Given the description of an element on the screen output the (x, y) to click on. 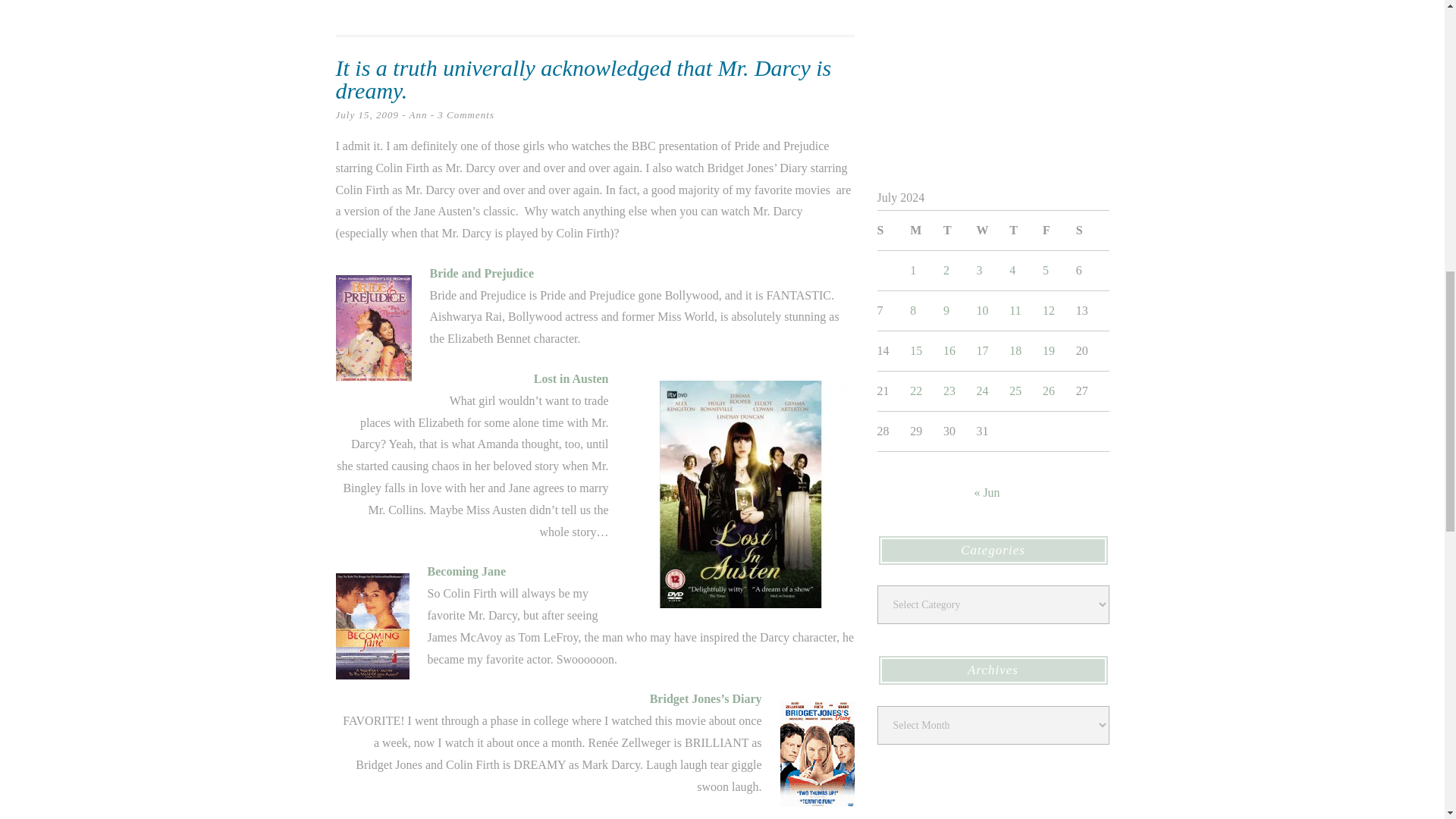
Bride and Prejudice (480, 273)
Sunday (893, 230)
Lost in Austen (571, 378)
Thursday (1025, 230)
Ann (418, 114)
Friday (1058, 230)
The 2020 Online Reading Challenge is Here! (992, 77)
Becoming Jane (467, 571)
Tuesday (959, 230)
July 15, 2009 (365, 114)
Wednesday (993, 230)
3 Comments (466, 114)
Monday (926, 230)
Saturday (1092, 230)
